Given the description of an element on the screen output the (x, y) to click on. 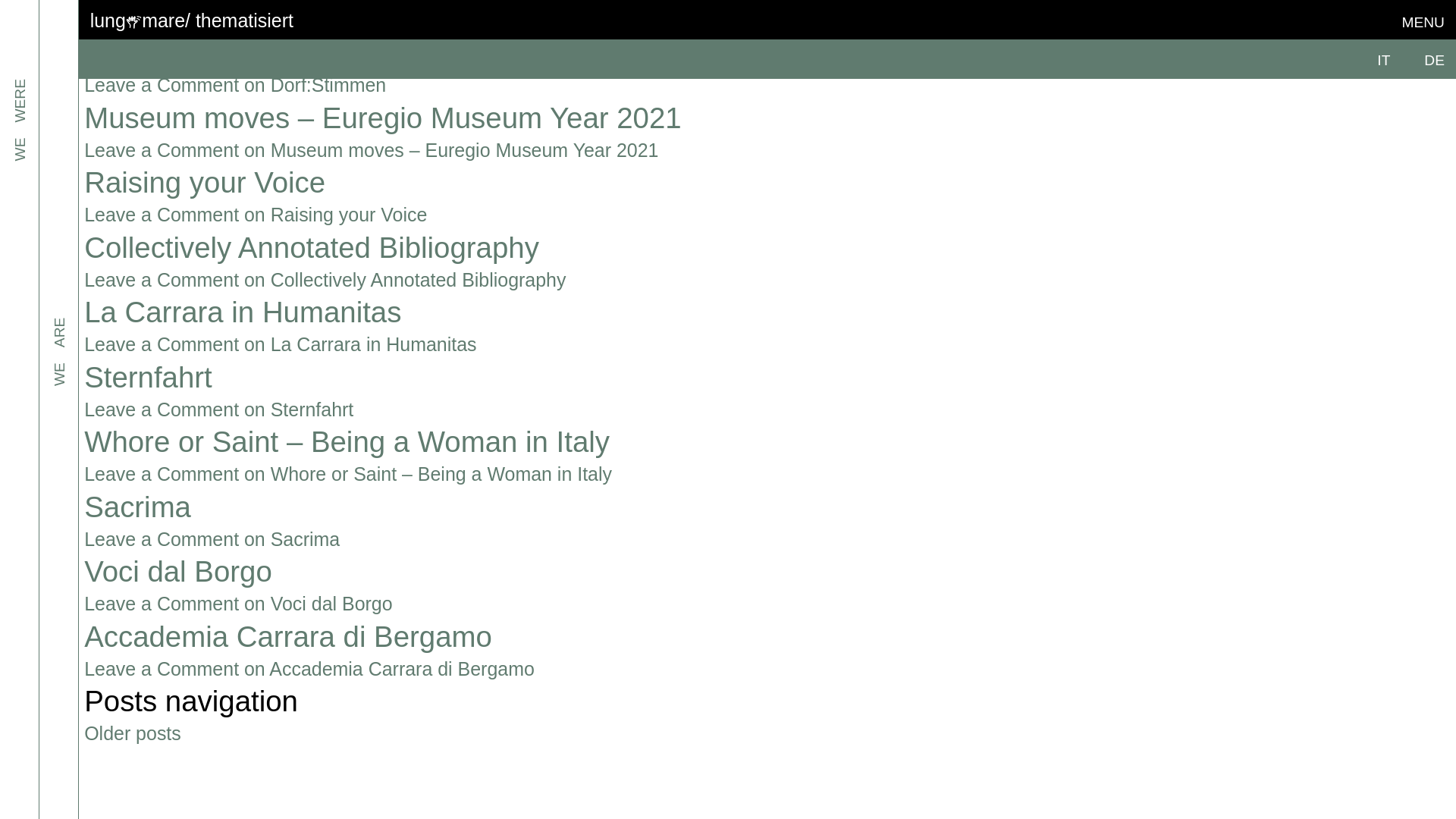
Leave a Comment on La Carrara in Humanitas (280, 343)
Leave a Comment on Raising your Voice (255, 214)
La Carrara in Humanitas (242, 311)
Leave a Comment on Dorf:Stimmen (234, 84)
MENU (1422, 22)
Raising your Voice (204, 182)
Leave a Comment on Sacrima (211, 538)
Collectively Annotated Bibliography (311, 246)
Leave a Comment on Accademia Carrara di Bergamo (309, 668)
DE (1433, 60)
DE (1433, 60)
Leave a Comment on Collectively Annotated Bibliography (325, 279)
Leave a Comment on Voci dal Borgo (237, 603)
Sacrima (137, 506)
Sternfahrt (148, 377)
